Given the description of an element on the screen output the (x, y) to click on. 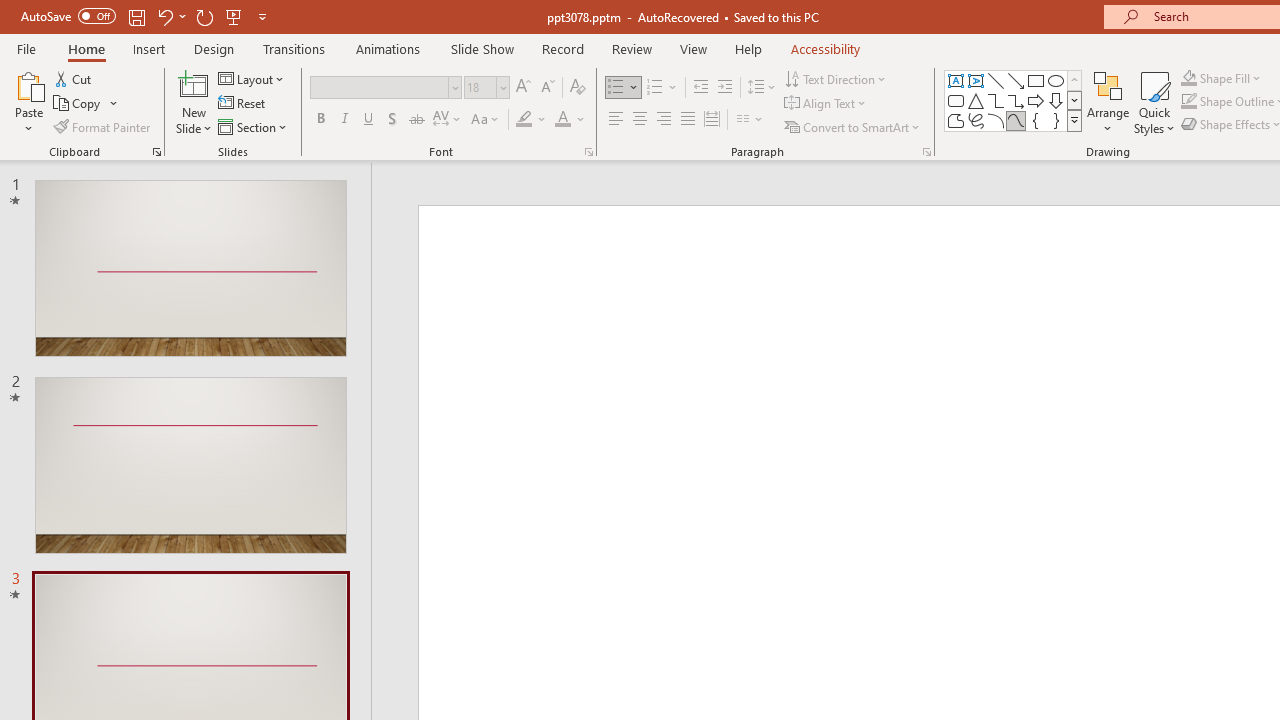
Font... (588, 151)
Strikethrough (416, 119)
Freeform: Scribble (975, 120)
Insert (149, 48)
Animations (388, 48)
Paste (28, 84)
Vertical Text Box (975, 80)
Character Spacing (447, 119)
Clear Formatting (577, 87)
Freeform: Shape (955, 120)
Shape Fill Dark Green, Accent 2 (1188, 78)
